Given the description of an element on the screen output the (x, y) to click on. 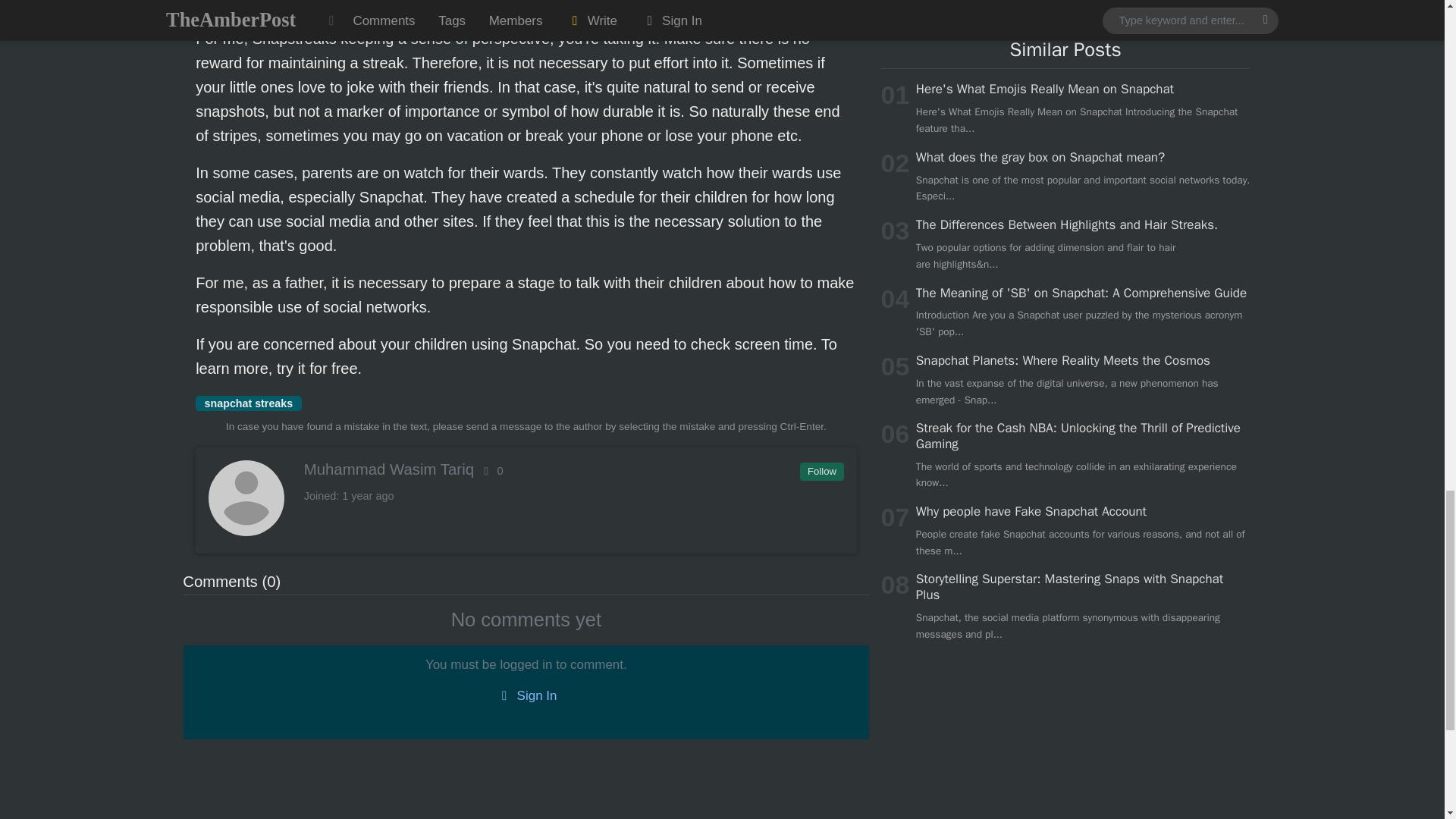
Sign In (525, 694)
Follow (821, 471)
Rating (491, 470)
snapchat streaks (248, 403)
Muhammad Wasim Tariq 0 (525, 469)
snapchat streaks (248, 403)
